Given the description of an element on the screen output the (x, y) to click on. 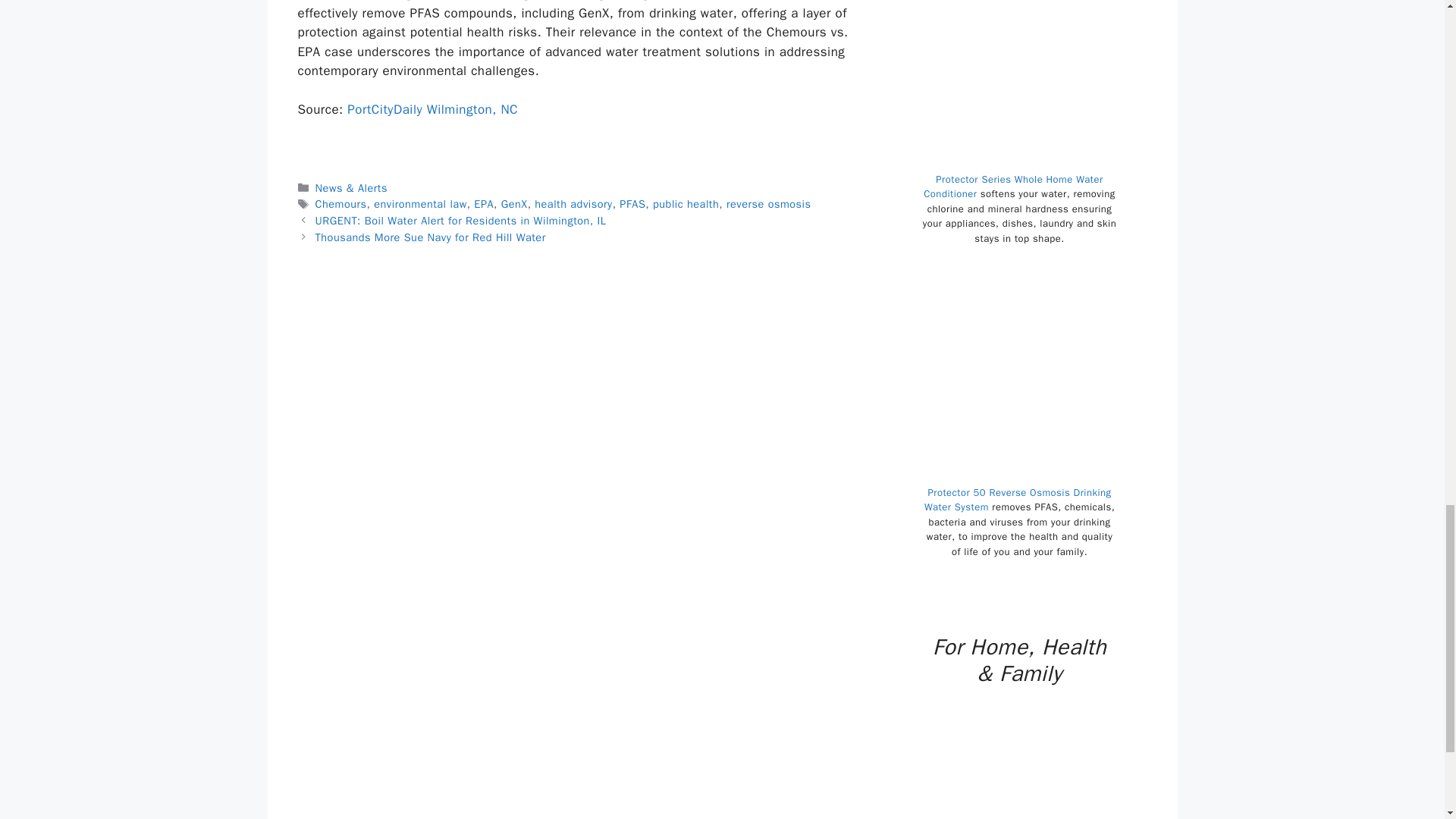
environmental law (419, 203)
PortCityDaily Wilmington, NC (432, 109)
GenX (513, 203)
EPA (483, 203)
Chemours (340, 203)
